Given the description of an element on the screen output the (x, y) to click on. 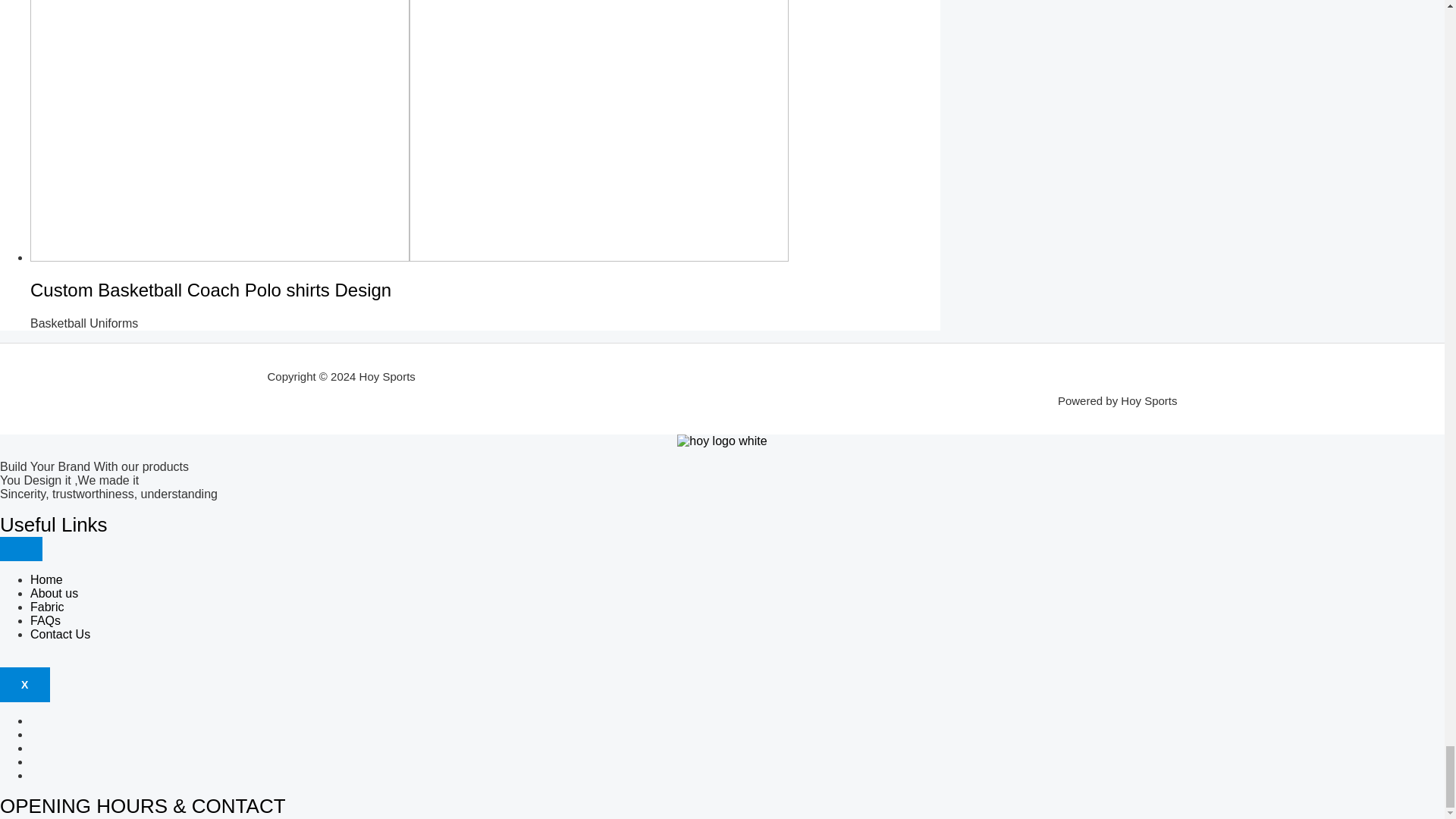
hoy logo white (722, 440)
